Given the description of an element on the screen output the (x, y) to click on. 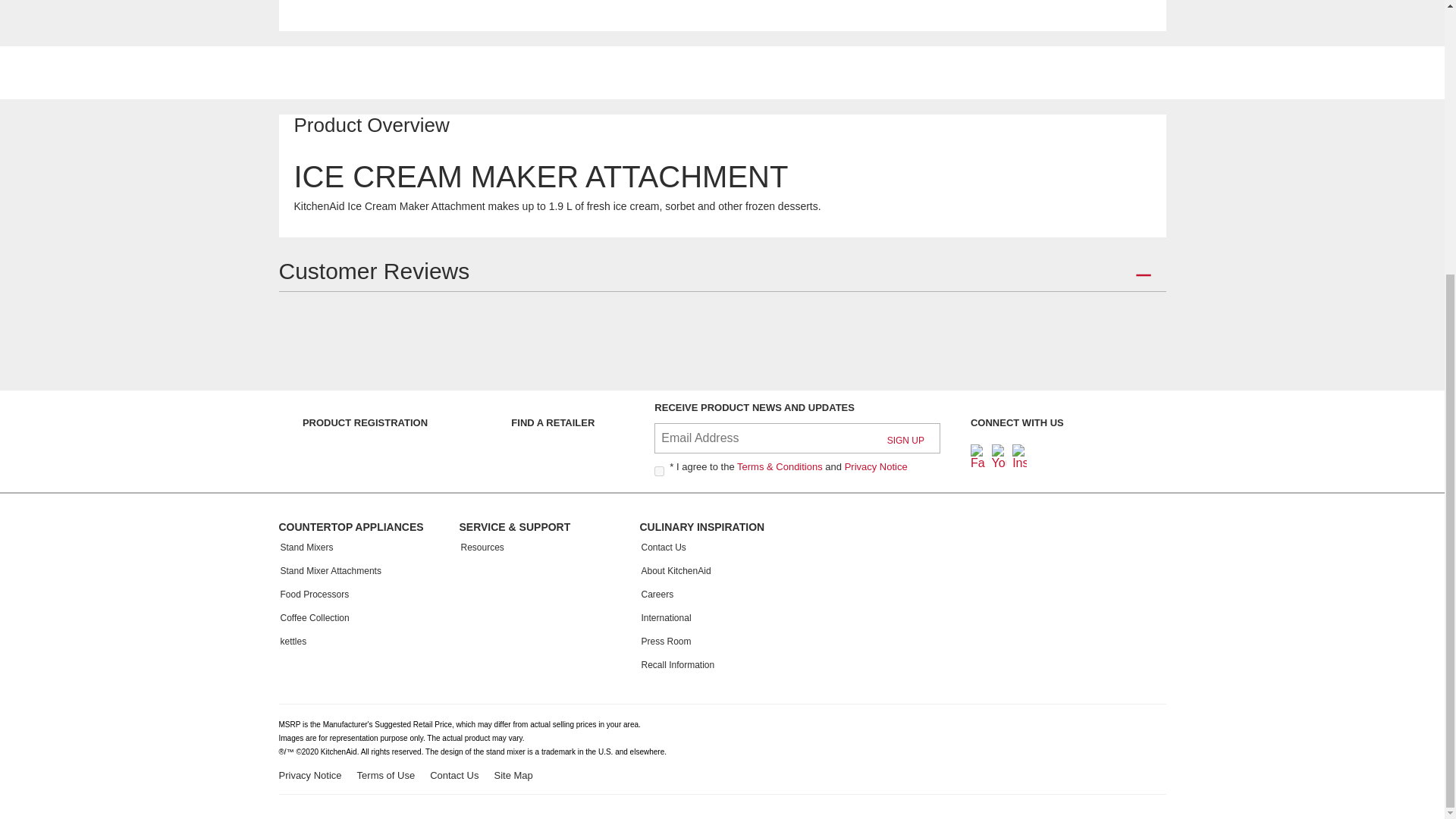
Sign Up (905, 441)
true (658, 470)
